Given the description of an element on the screen output the (x, y) to click on. 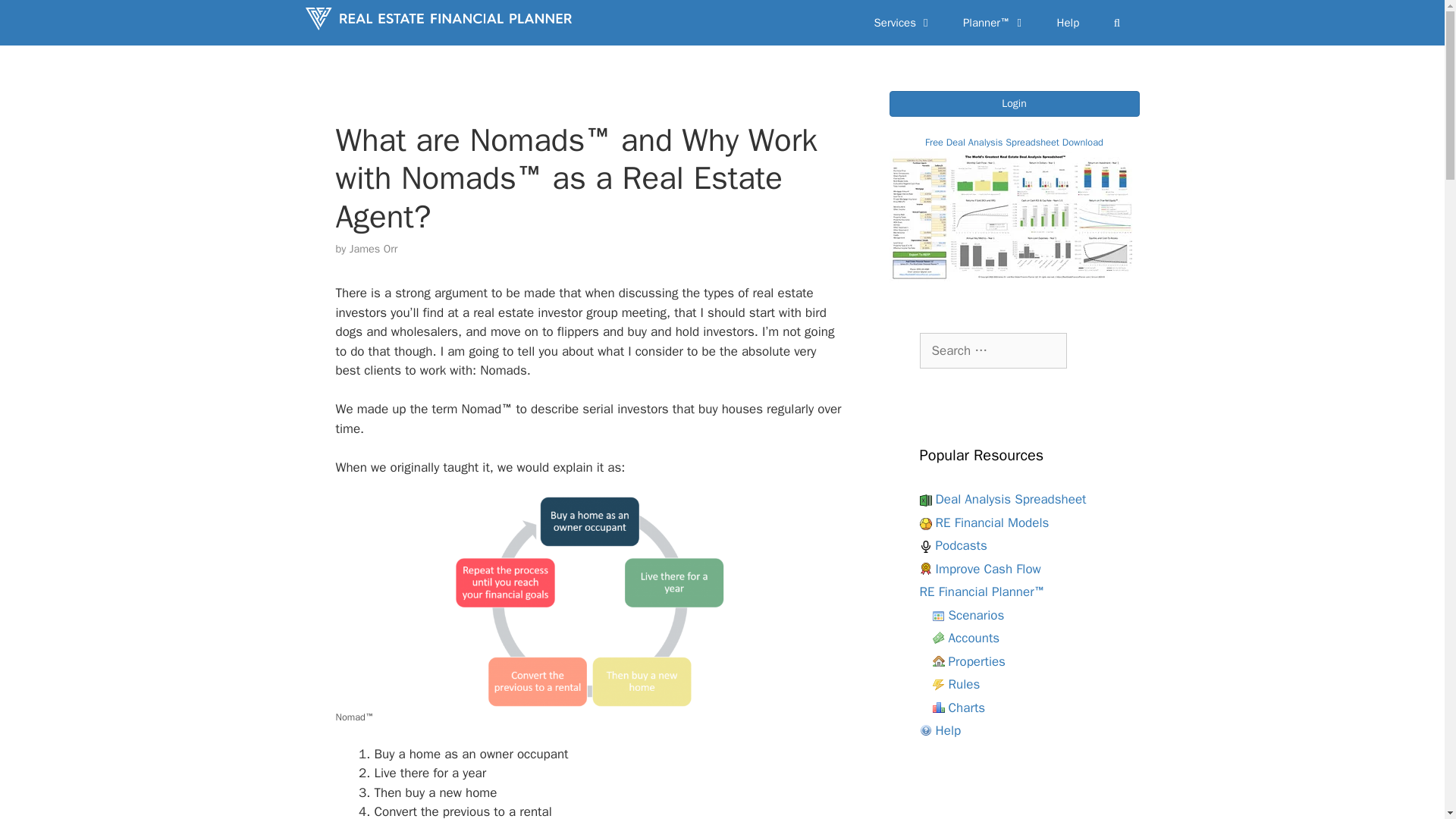
Search (33, 17)
Search for: (991, 350)
Services (903, 22)
Help (1068, 22)
Free Deal Analysis Spreadsheet Download (1013, 178)
Login (1013, 103)
